Given the description of an element on the screen output the (x, y) to click on. 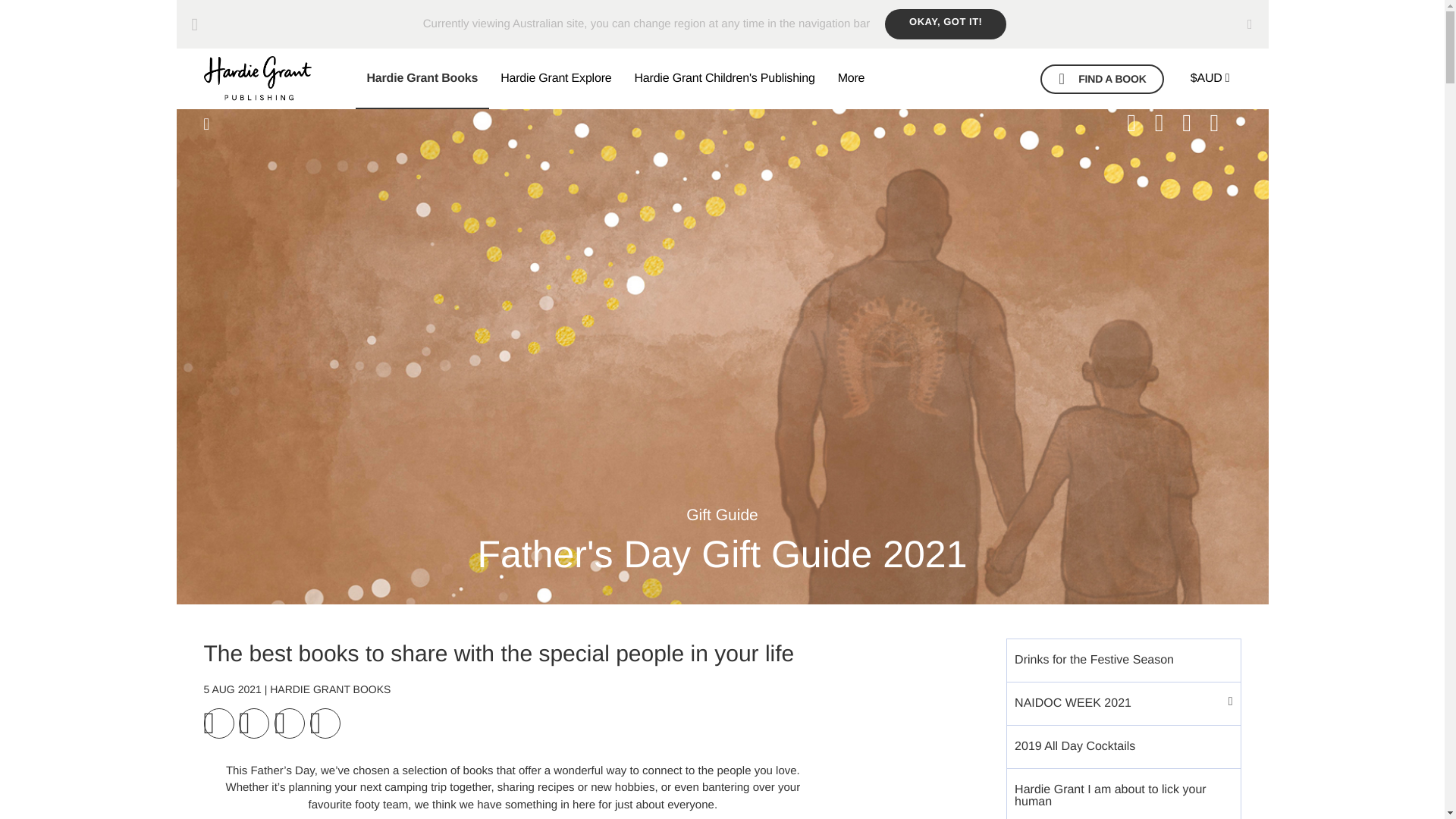
subscribe to newsletter (1138, 122)
like us (1166, 122)
follow us (1221, 122)
find a book (1102, 78)
Hardie Grant Books (422, 78)
OKAY, GOT IT! (945, 24)
Hardie Grant Children's Publishing (724, 78)
follow us on instragram (1194, 122)
Hardie Grant Explore (556, 78)
